Given the description of an element on the screen output the (x, y) to click on. 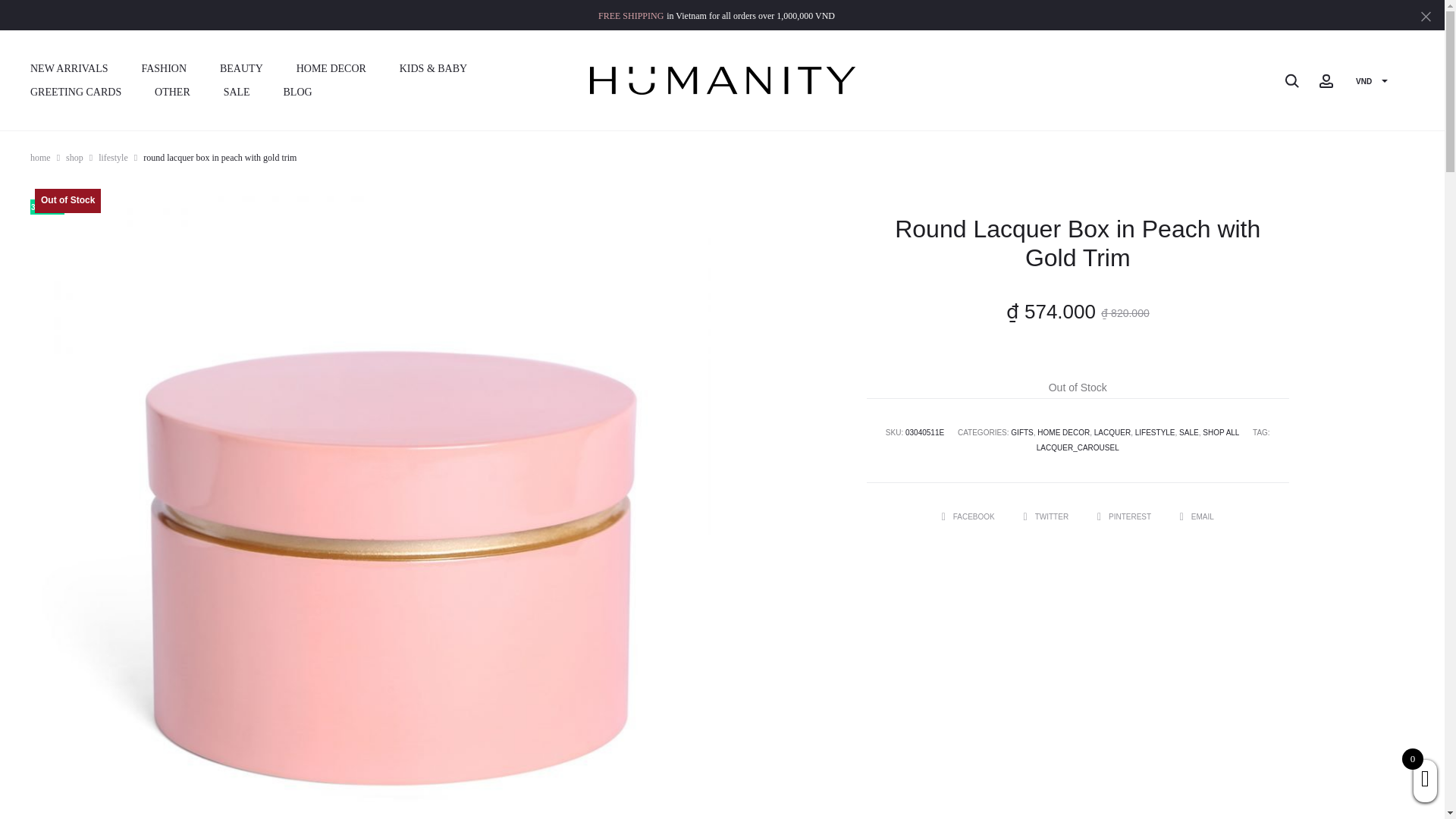
OTHER (172, 92)
Close (1426, 15)
NEW ARRIVALS (68, 68)
BEAUTY (241, 68)
FASHION (163, 68)
GREETING CARDS (75, 92)
FREE SHIPPING (630, 15)
HOME DECOR (331, 68)
